Given the description of an element on the screen output the (x, y) to click on. 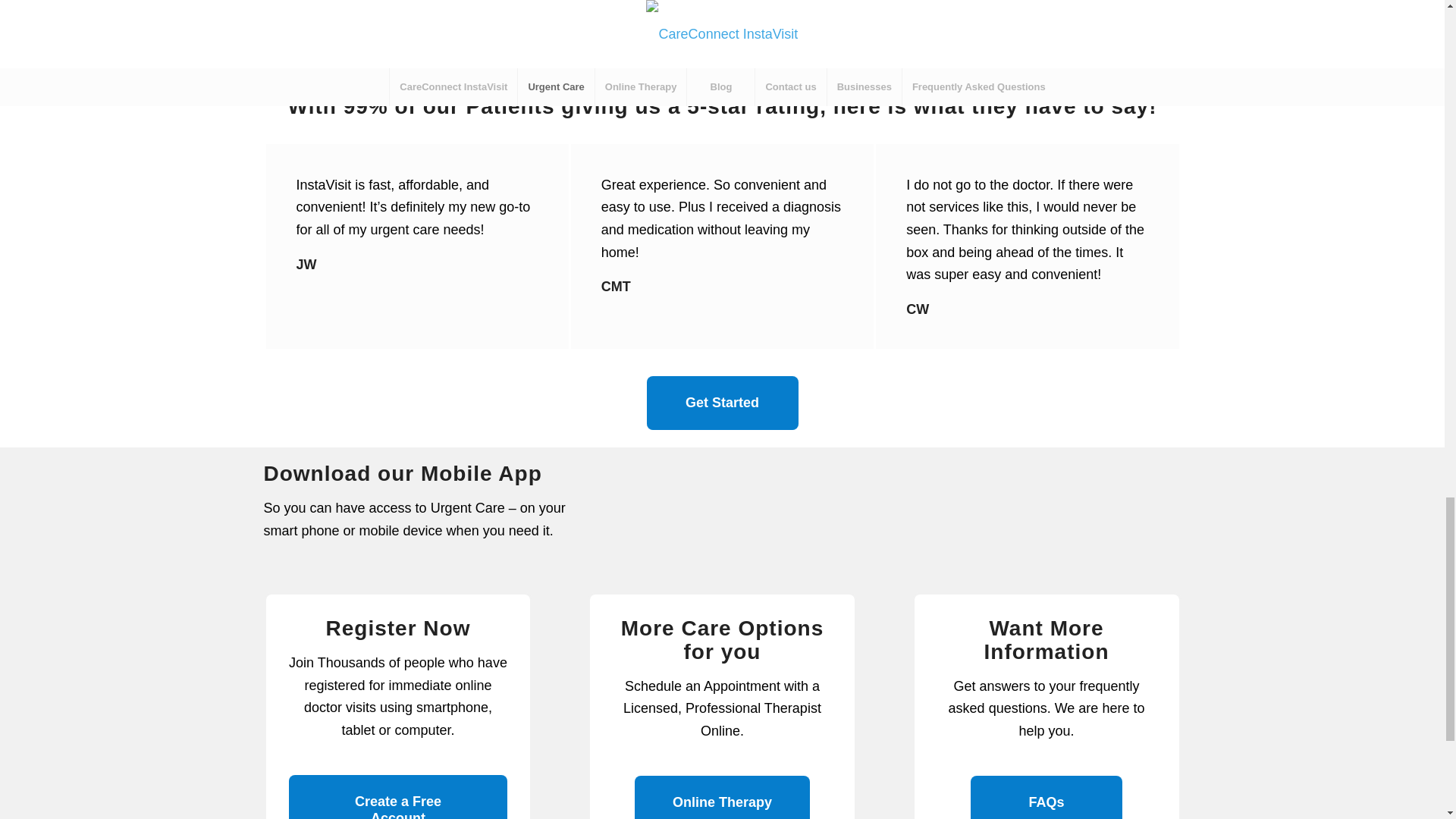
Online Therapy (721, 797)
FAQs (1046, 797)
Get Started (721, 402)
Create a Free Account (397, 796)
